Given the description of an element on the screen output the (x, y) to click on. 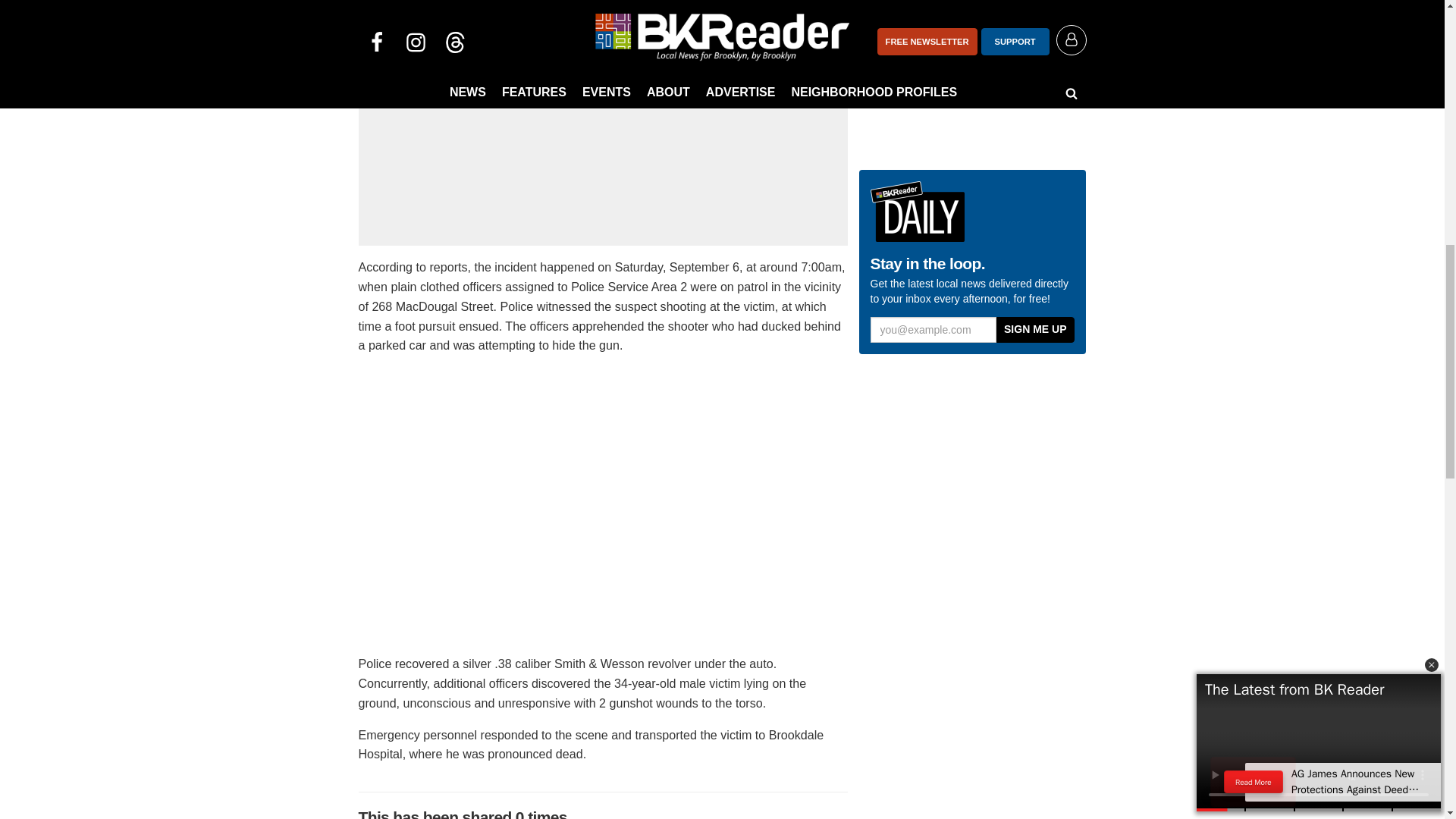
Sign me up (1034, 329)
3rd party ad content (602, 145)
3rd party ad content (972, 414)
